Given the description of an element on the screen output the (x, y) to click on. 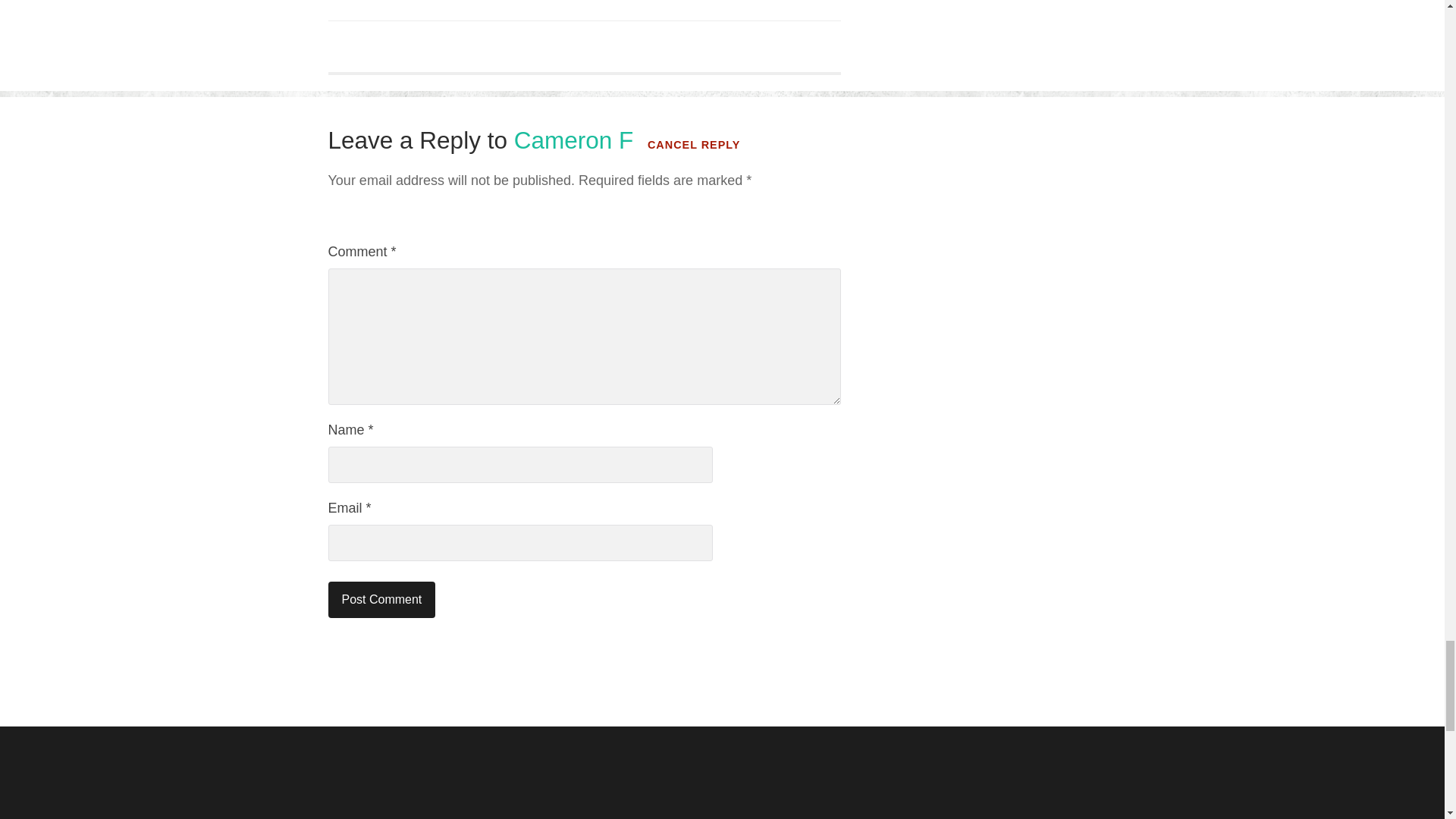
Post Comment (381, 599)
